Given the description of an element on the screen output the (x, y) to click on. 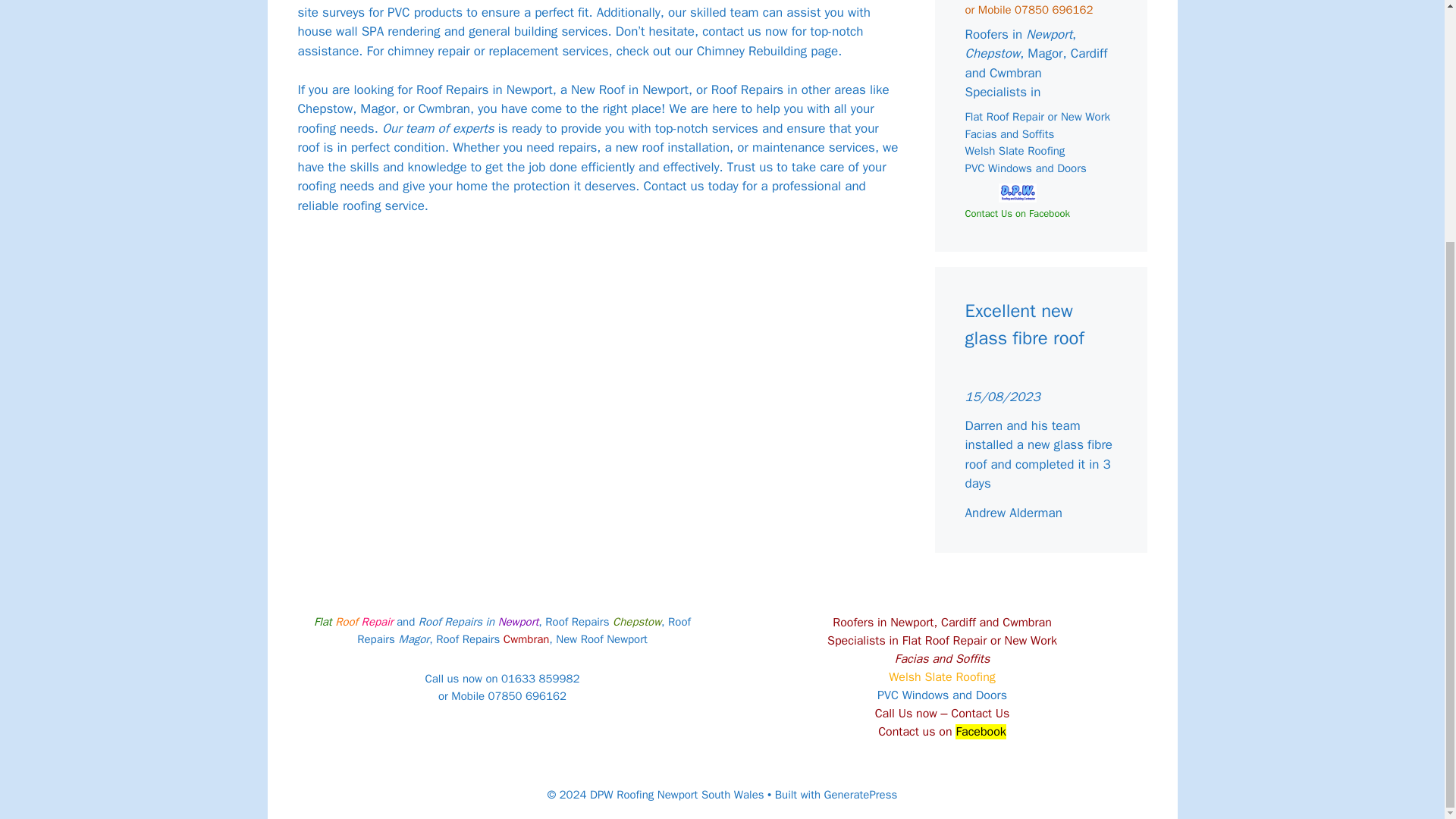
GeneratePress (861, 794)
Facebook (980, 731)
Contact Us on Facebook (1015, 213)
Chimney Rebuilding (751, 50)
Chimney Rebuilding (751, 50)
Contact Us (979, 713)
